Given the description of an element on the screen output the (x, y) to click on. 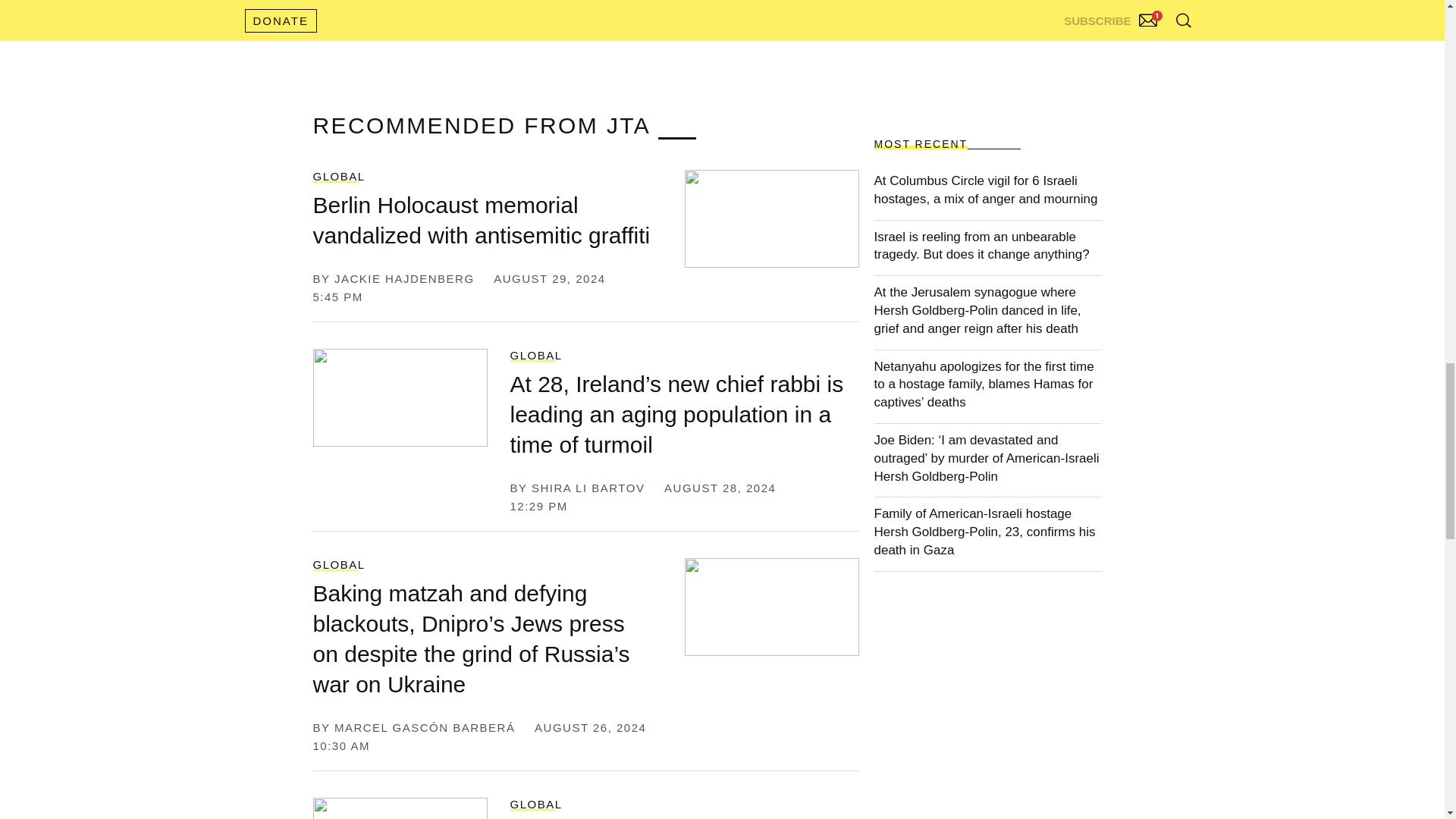
Click to share on WhatsApp (503, 14)
Click to share on Facebook (419, 14)
Click to email a link to a friend (577, 14)
Click to share on Twitter (343, 14)
